Given the description of an element on the screen output the (x, y) to click on. 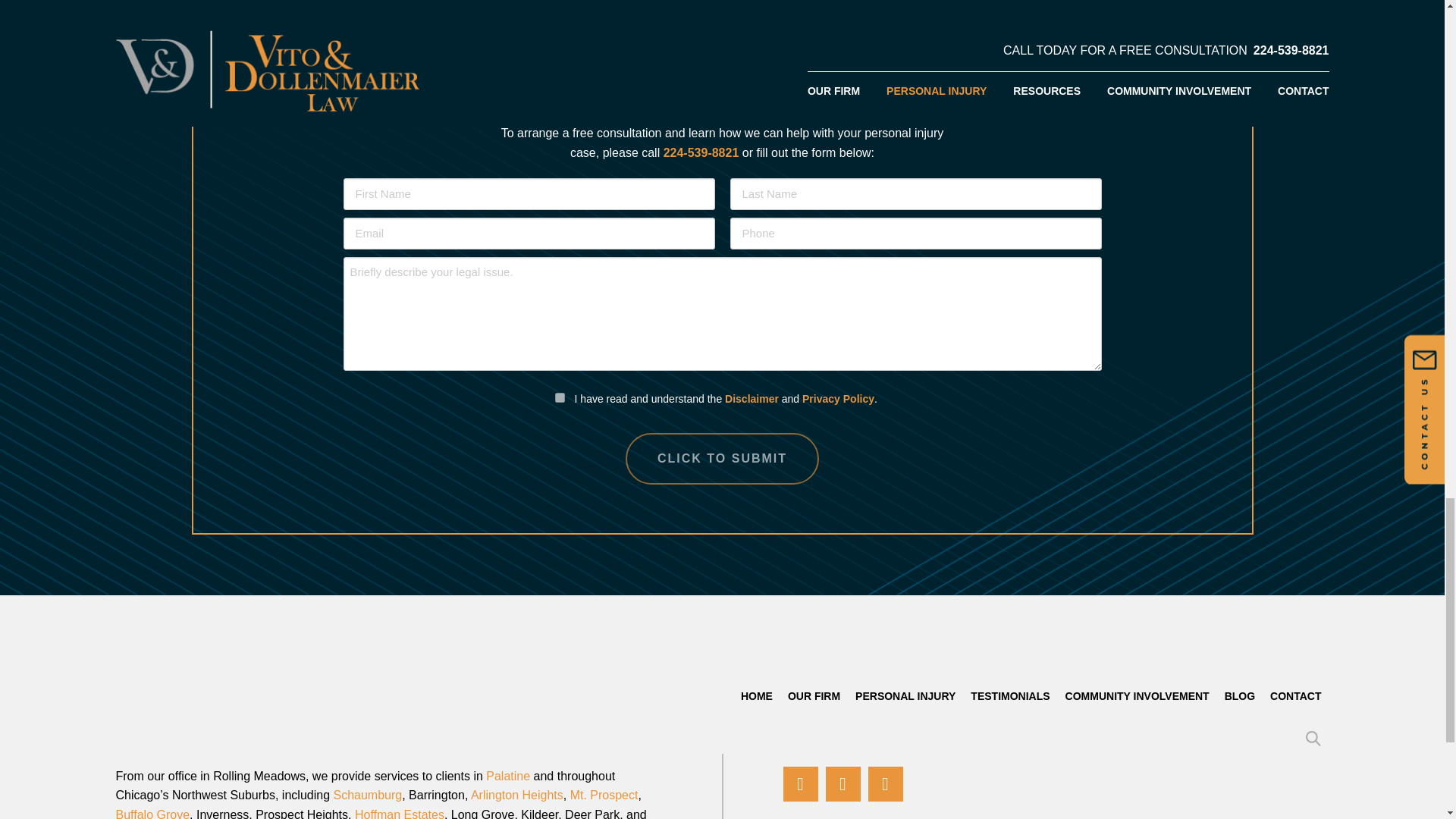
1 (559, 397)
